Given the description of an element on the screen output the (x, y) to click on. 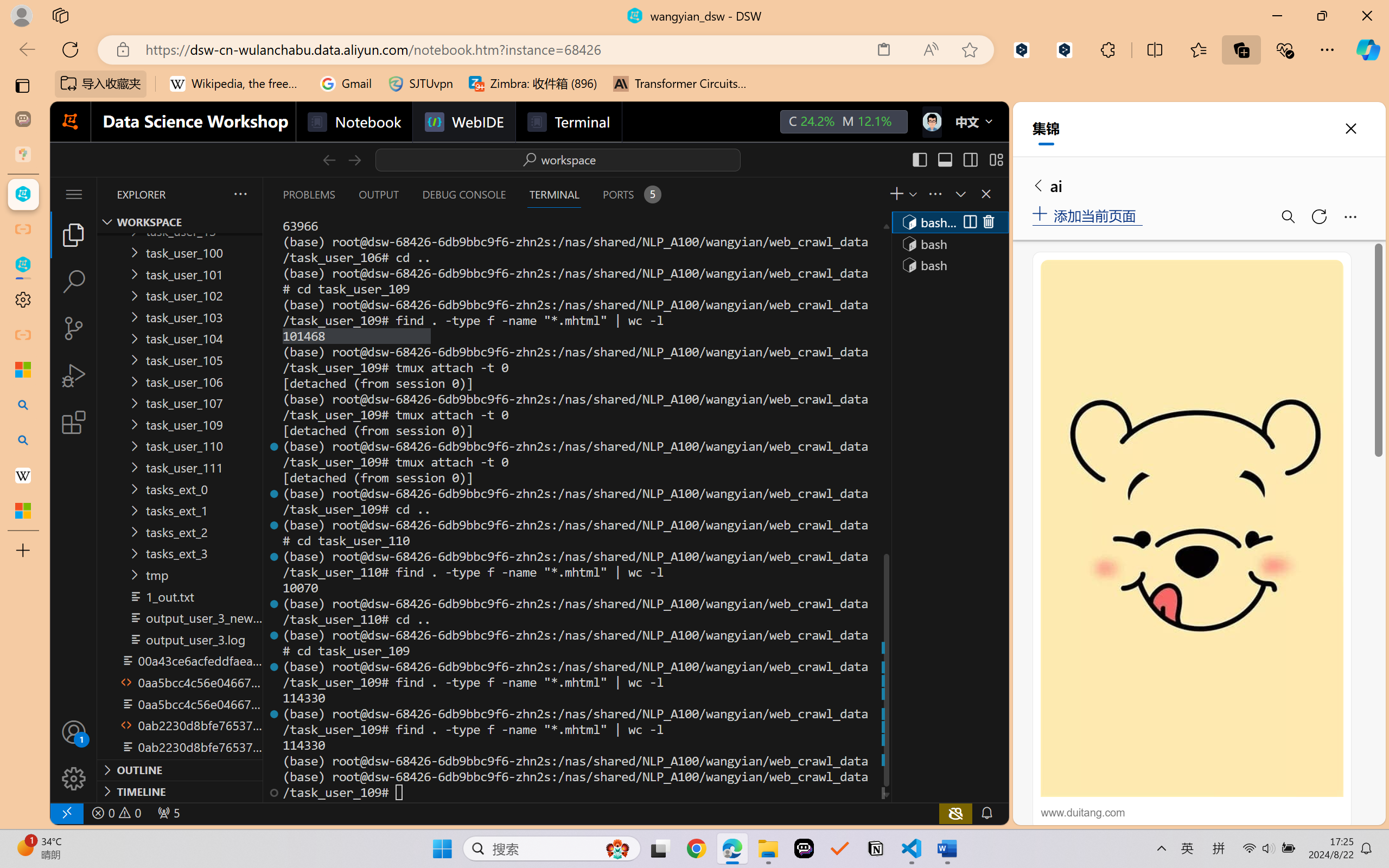
Debug Console (Ctrl+Shift+Y) (463, 194)
Restore Panel Size (959, 193)
Gmail (345, 83)
Transformer Circuits Thread (680, 83)
Earth - Wikipedia (22, 475)
Extensions (Ctrl+Shift+X) (73, 422)
Class: next-menu next-hoz widgets--iconMenu--BFkiHRM (930, 121)
Terminal 3 bash (949, 264)
Customize Layout... (995, 159)
Explorer Section: workspace (179, 221)
